Given the description of an element on the screen output the (x, y) to click on. 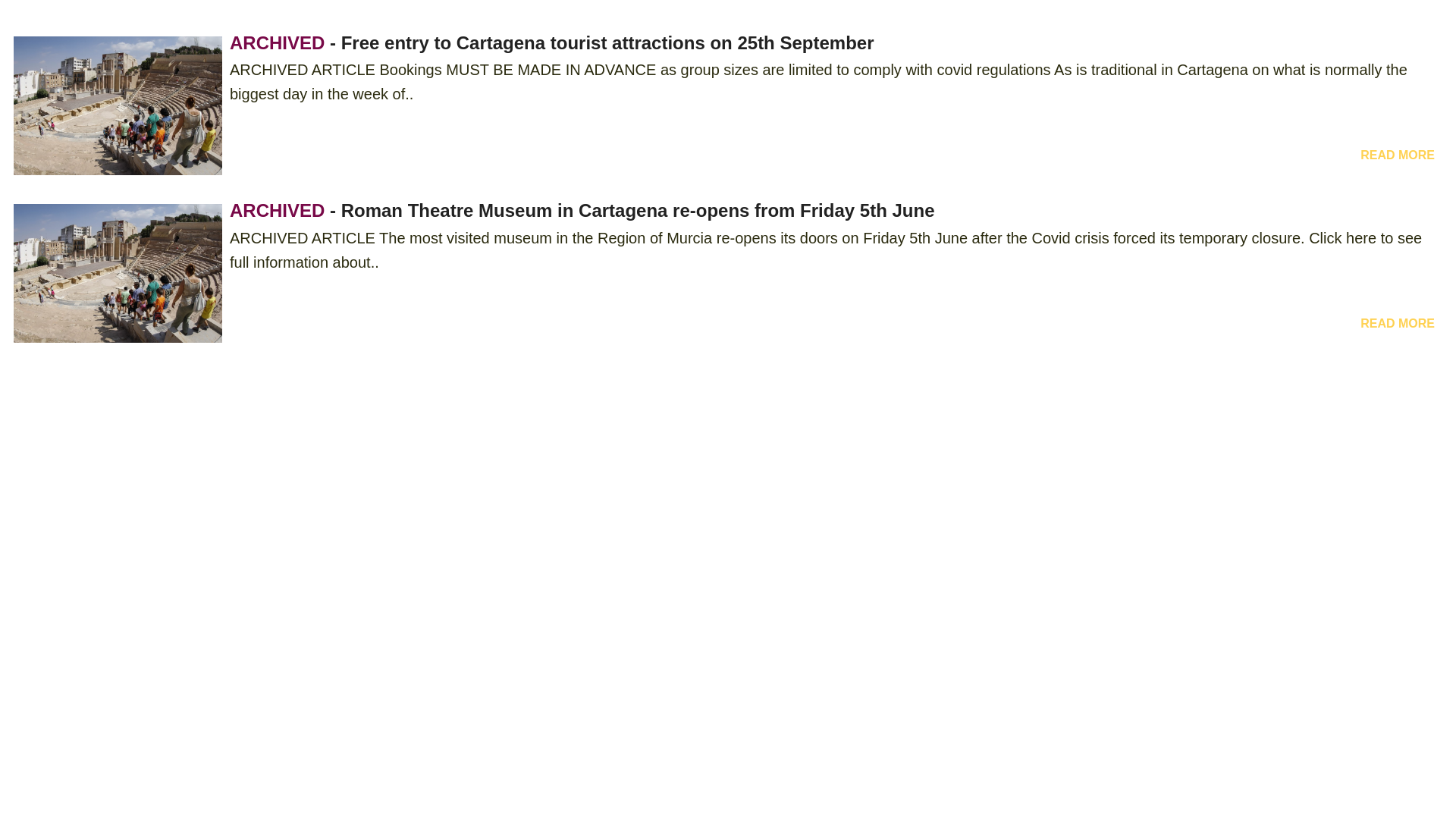
READ MORE (1396, 323)
READ MORE (1396, 155)
